Given the description of an element on the screen output the (x, y) to click on. 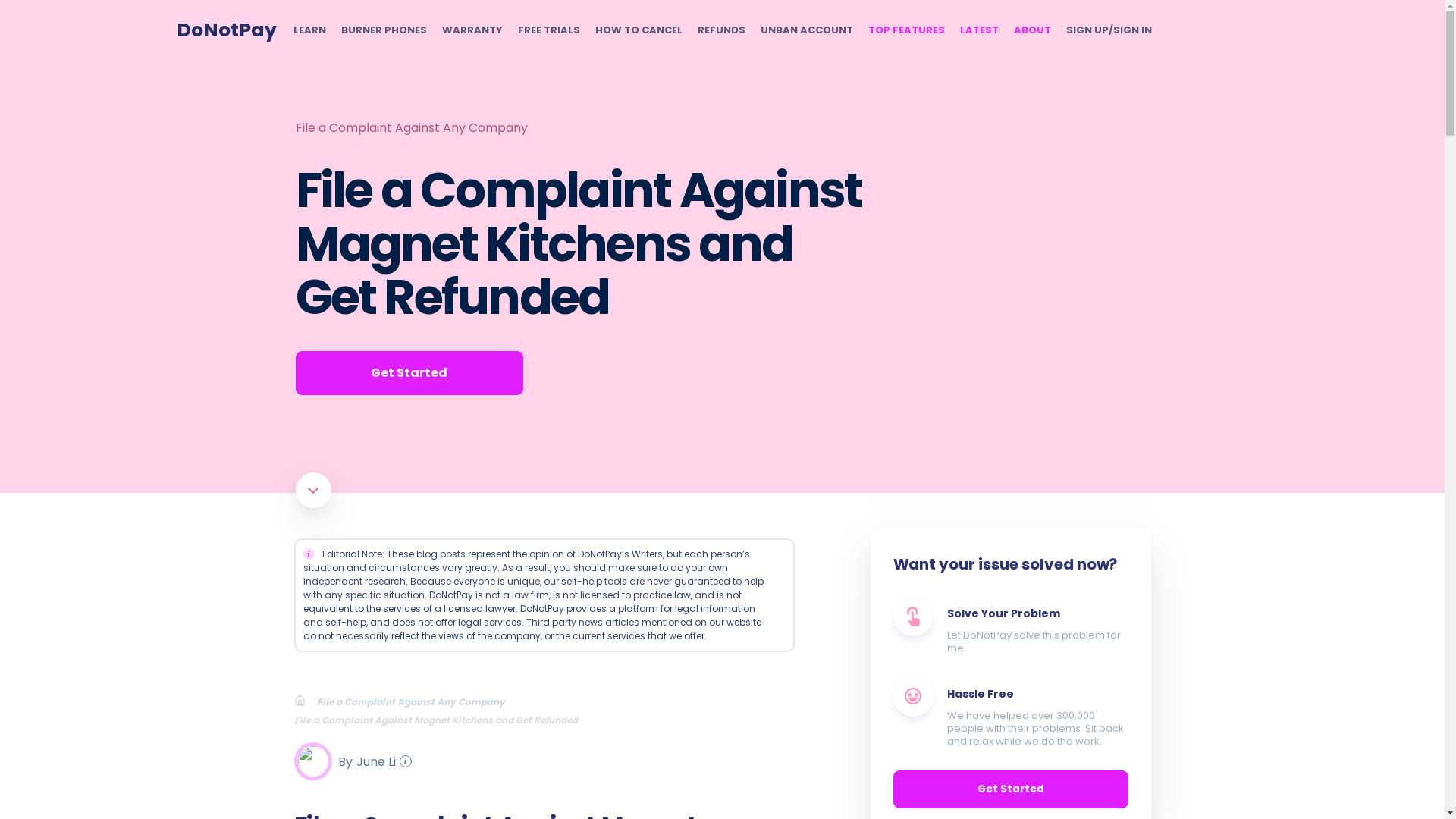
BURNER PHONES (383, 29)
Get Started (408, 372)
ABOUT (1031, 29)
LATEST (978, 29)
REFUNDS (721, 29)
WARRANTY (471, 29)
File a Complaint Against Any Company (411, 127)
FREE TRIALS (547, 29)
DoNotPay (226, 29)
June Li (373, 761)
LEARN (308, 29)
File a Complaint Against Any Company (416, 700)
HOW TO CANCEL (637, 29)
UNBAN ACCOUNT (805, 29)
TOP FEATURES (905, 29)
